Given the description of an element on the screen output the (x, y) to click on. 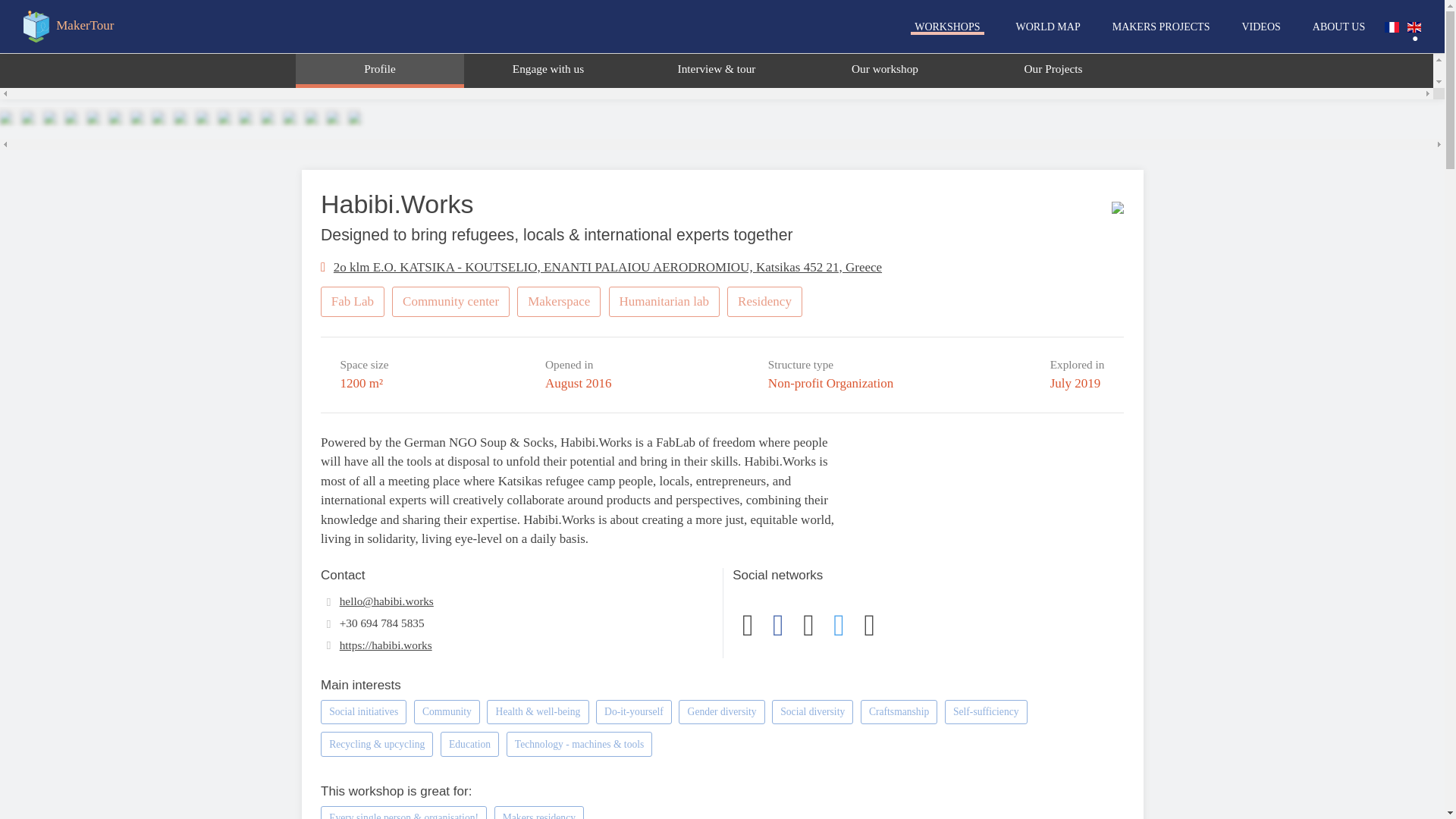
Our workshop (884, 70)
VIDEOS (1260, 26)
MAKERS PROJECTS (1160, 26)
WORLD MAP (1048, 26)
WORKSHOPS (946, 26)
MakerTour (67, 26)
ABOUT US (1338, 26)
Our Projects (1053, 70)
Profile (379, 70)
